Given the description of an element on the screen output the (x, y) to click on. 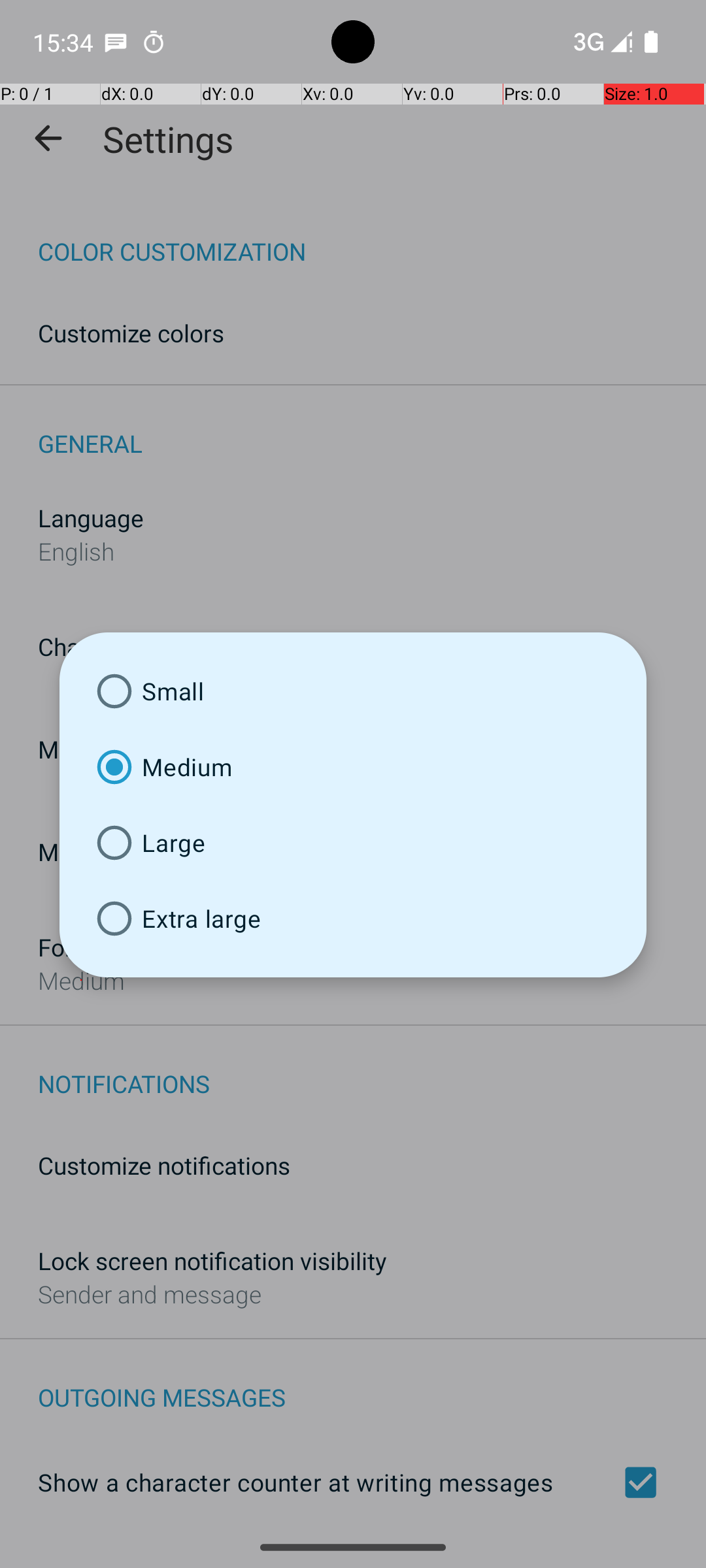
Small Element type: android.widget.RadioButton (352, 691)
Large Element type: android.widget.RadioButton (352, 842)
Extra large Element type: android.widget.RadioButton (352, 918)
